Given the description of an element on the screen output the (x, y) to click on. 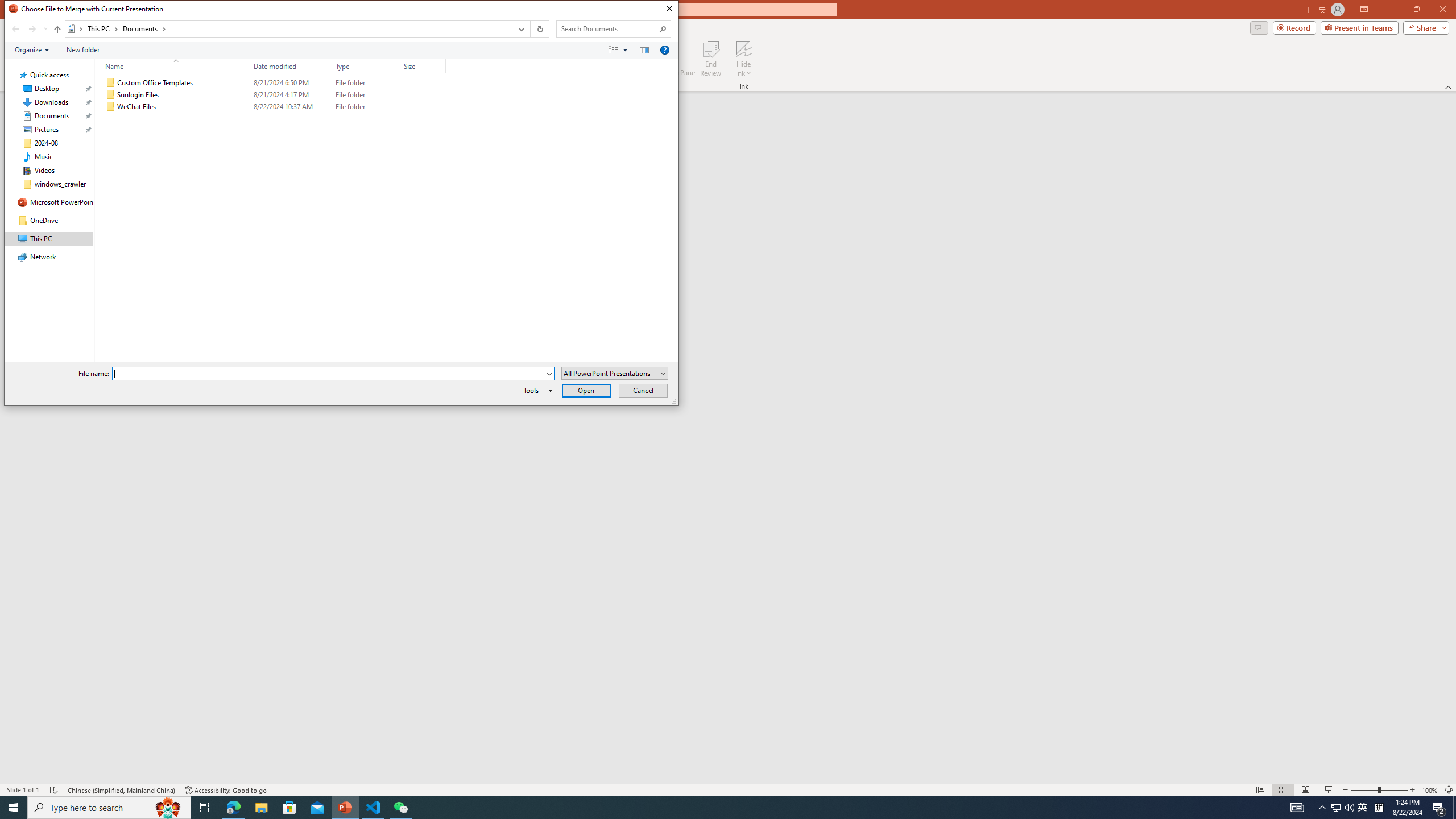
File Explorer (261, 807)
Search (663, 28)
